Given the description of an element on the screen output the (x, y) to click on. 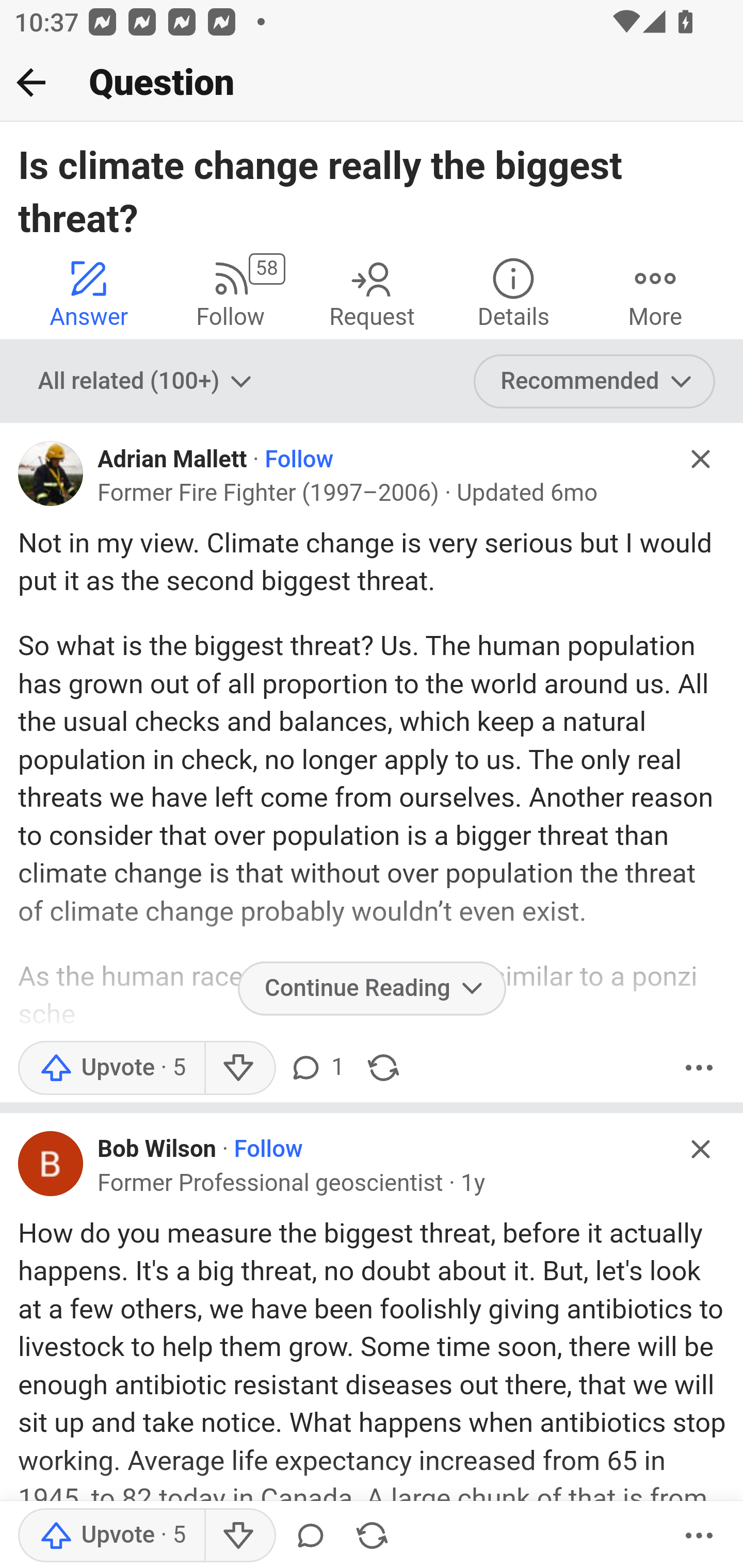
Back Question (371, 82)
Back (30, 82)
Answer (88, 292)
58 Follow (230, 292)
Request (371, 292)
Details (513, 292)
More (655, 292)
All related (100+) (146, 381)
Recommended (594, 381)
Hide (700, 459)
Profile photo for Adrian Mallett (50, 473)
Adrian Mallett (172, 459)
Follow (298, 459)
Updated 6mo Updated  6 mo (526, 493)
Continue Reading (371, 988)
Upvote (111, 1067)
Downvote (238, 1067)
1 comment (315, 1067)
Share (383, 1067)
More (699, 1067)
Hide (700, 1149)
Profile photo for Bob Wilson (50, 1162)
Bob Wilson (157, 1149)
Follow (267, 1149)
1y 1 y (472, 1182)
Upvote (111, 1535)
Downvote (238, 1535)
Comment (310, 1535)
Share (372, 1535)
More (699, 1535)
